Given the description of an element on the screen output the (x, y) to click on. 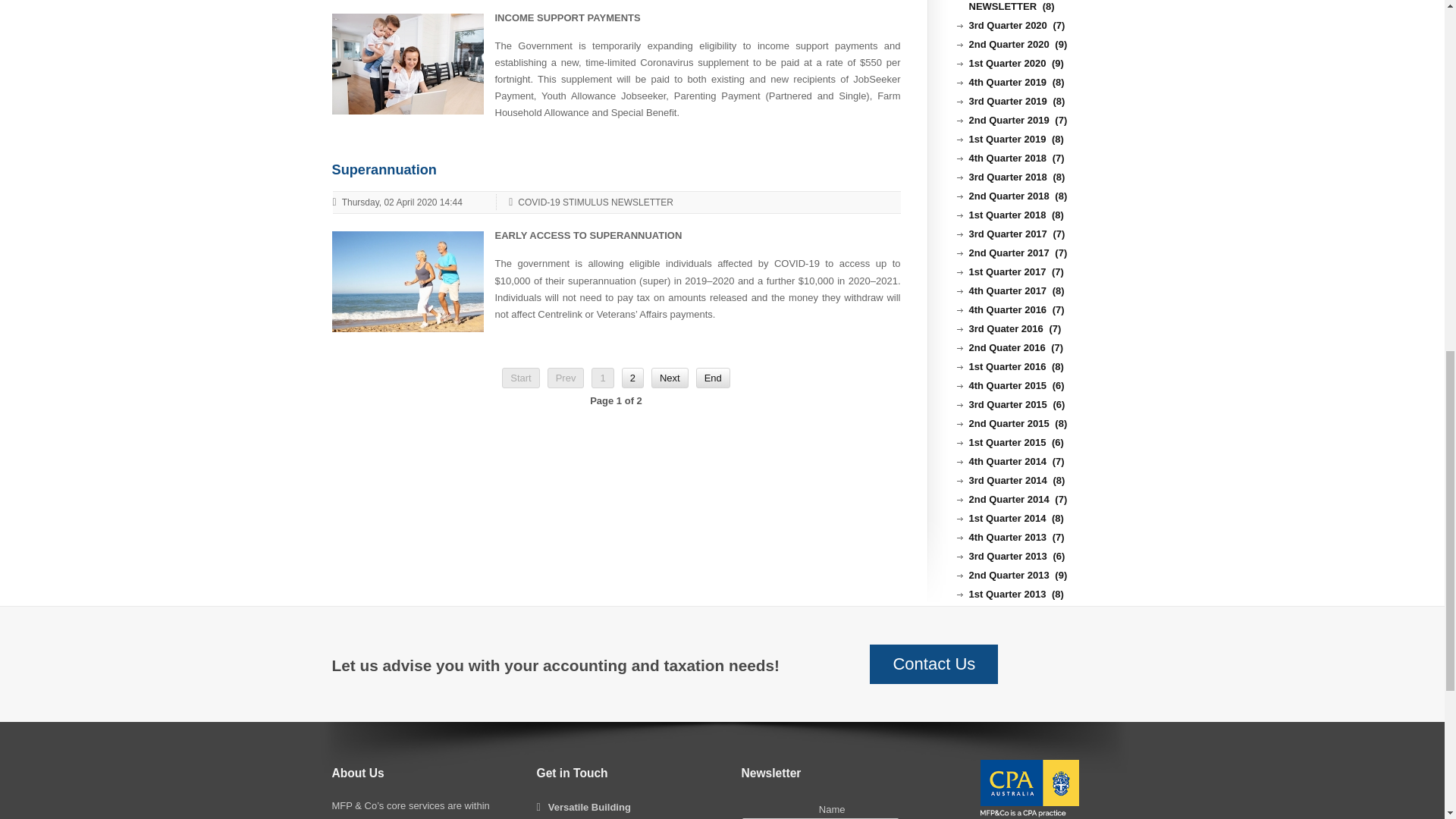
Superannuation (383, 169)
End (712, 377)
Stimulus Payments To Households (407, 62)
Next (669, 377)
COVID-19 STIMULUS NEWSLETTER (590, 202)
2 (632, 377)
Superannuation (407, 280)
